Given the description of an element on the screen output the (x, y) to click on. 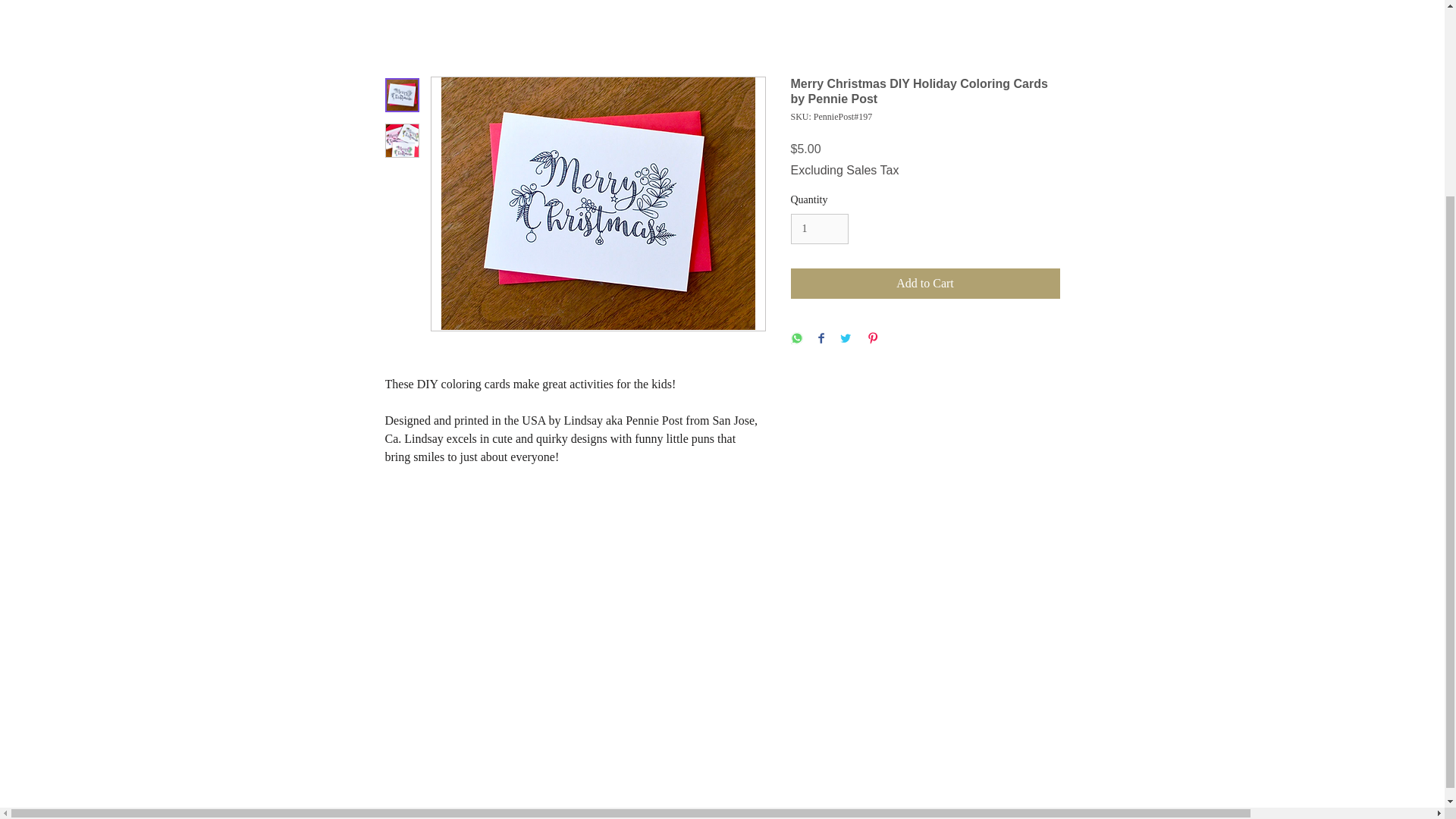
1 (818, 228)
Wix.com (831, 758)
Add to Cart (924, 283)
